Given the description of an element on the screen output the (x, y) to click on. 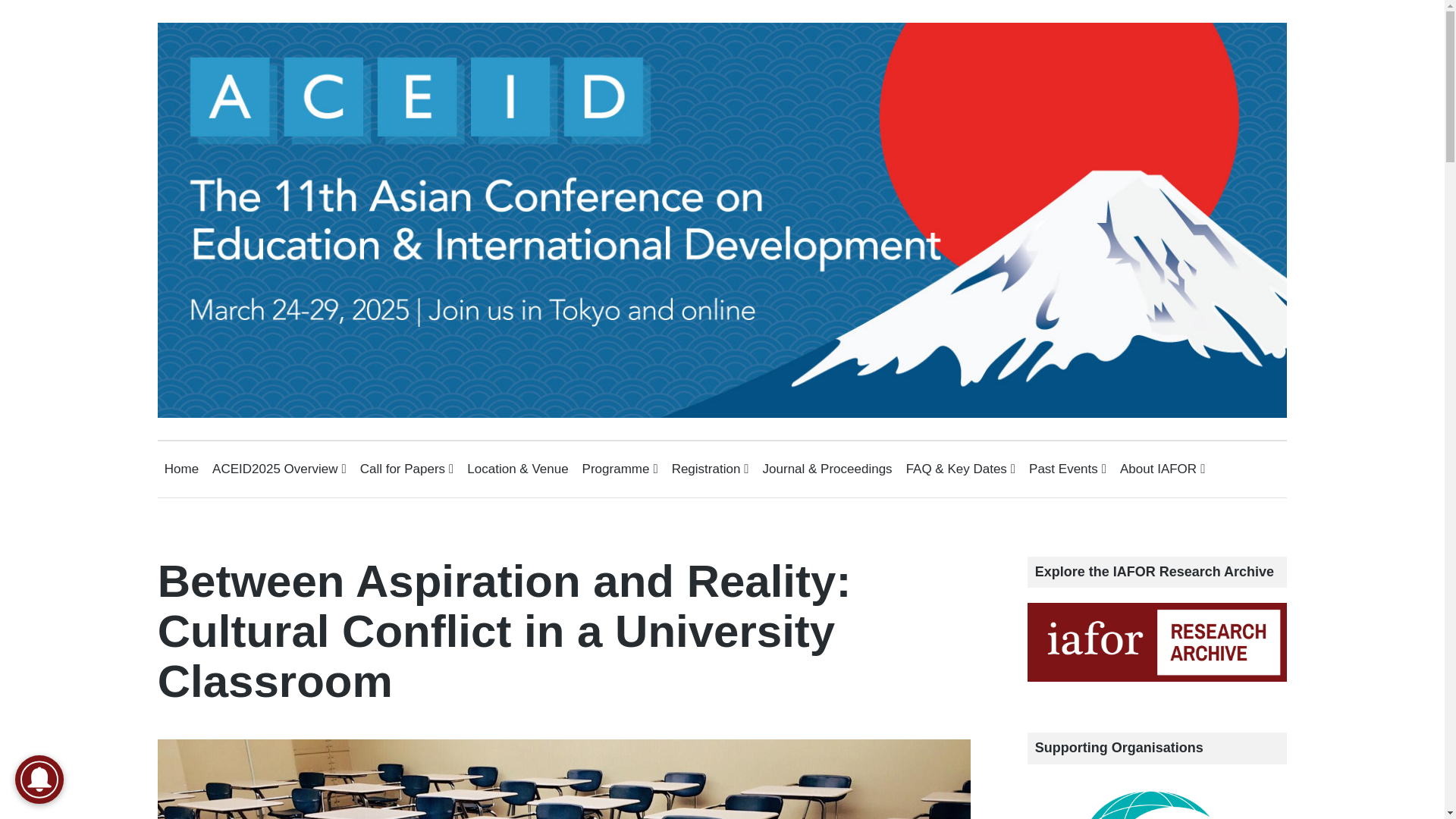
Opens a widget where you can find more information (1374, 792)
Home (181, 469)
Past Events (1067, 469)
Programme (620, 469)
ACEID2025 Overview (279, 469)
Registration (710, 469)
Call for Papers (406, 469)
